Given the description of an element on the screen output the (x, y) to click on. 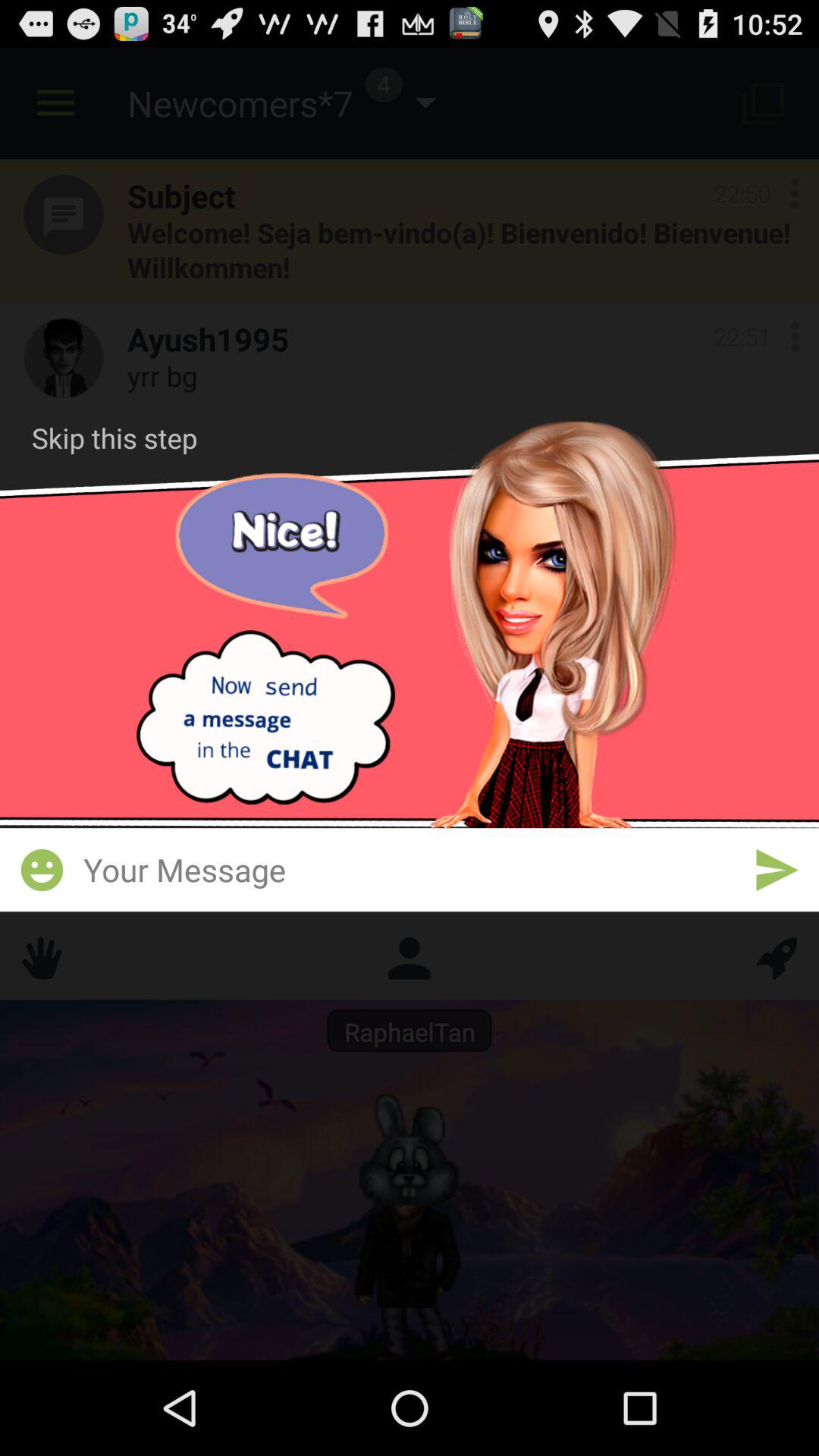
choose skip this step at the top left corner (114, 437)
